Given the description of an element on the screen output the (x, y) to click on. 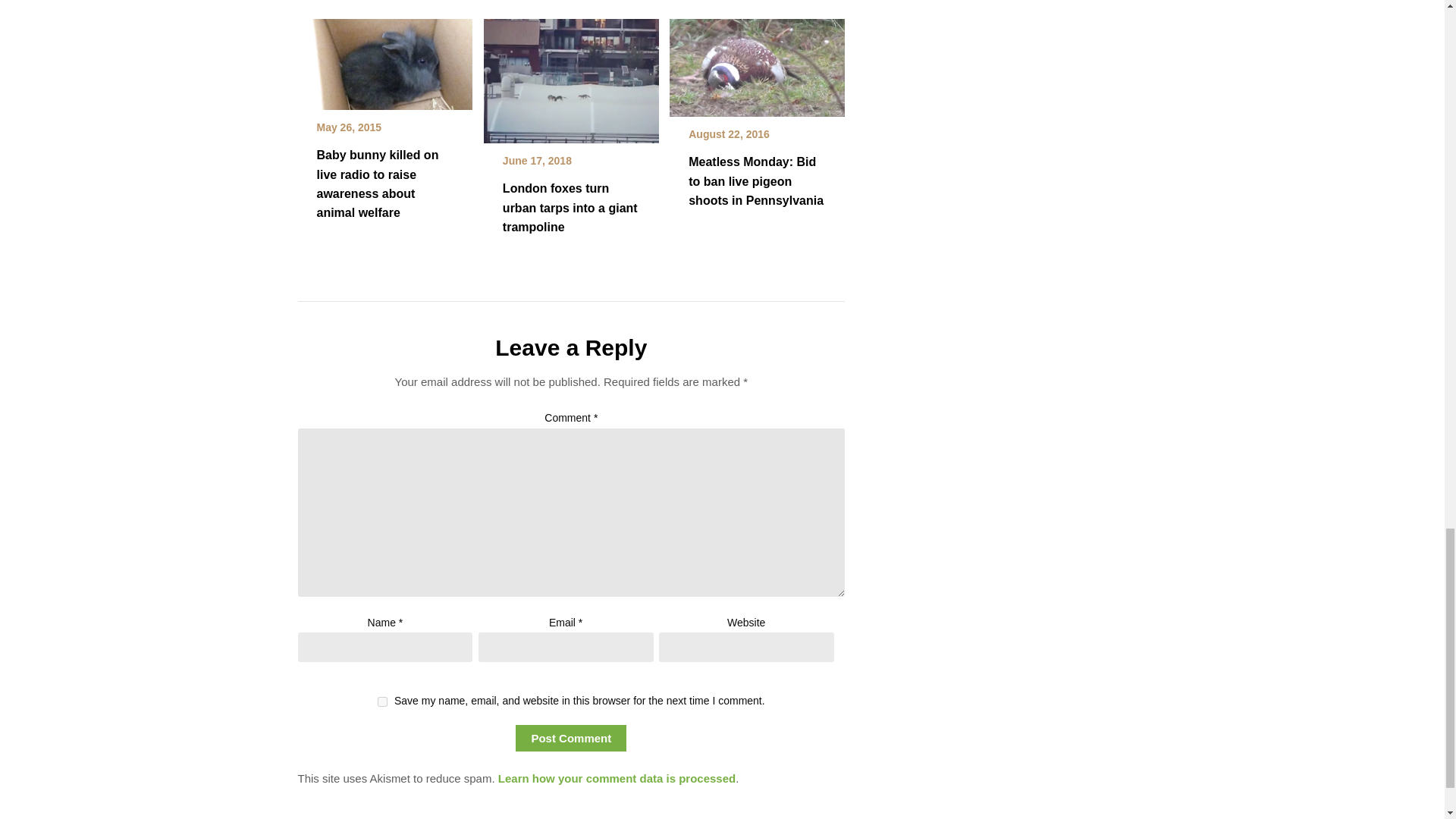
London foxes turn urban tarps into a giant trampoline (571, 75)
yes (382, 701)
Post Comment (570, 737)
London foxes turn urban tarps into a giant trampoline (569, 206)
